Given the description of an element on the screen output the (x, y) to click on. 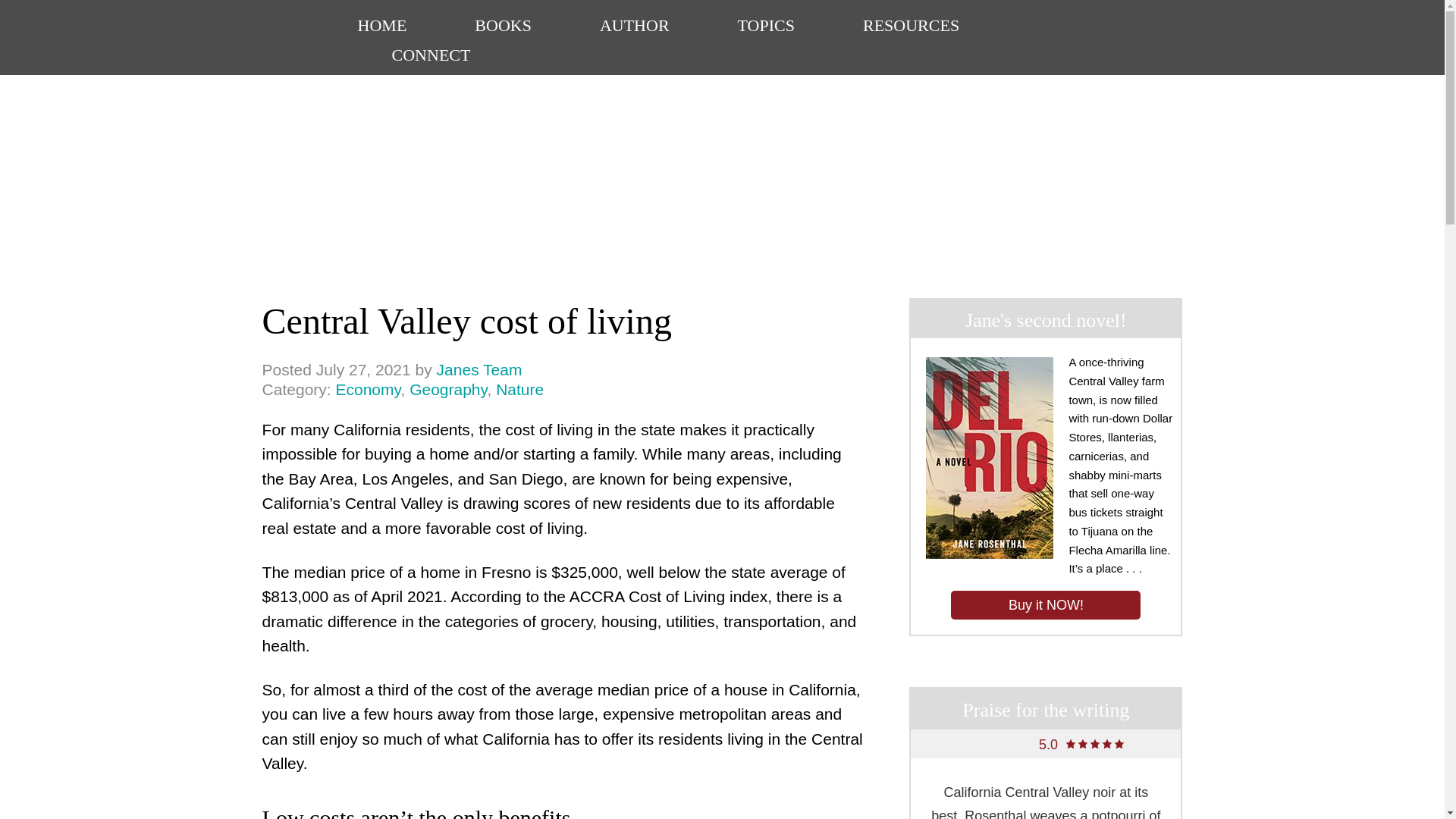
TOPICS (722, 43)
BOOKS (766, 27)
Buy it NOW! (502, 27)
Nature (1045, 604)
CONNECT (519, 389)
Economy (430, 56)
Janes Team (367, 389)
HOME (479, 369)
Posts by Janes Team (382, 27)
